Given the description of an element on the screen output the (x, y) to click on. 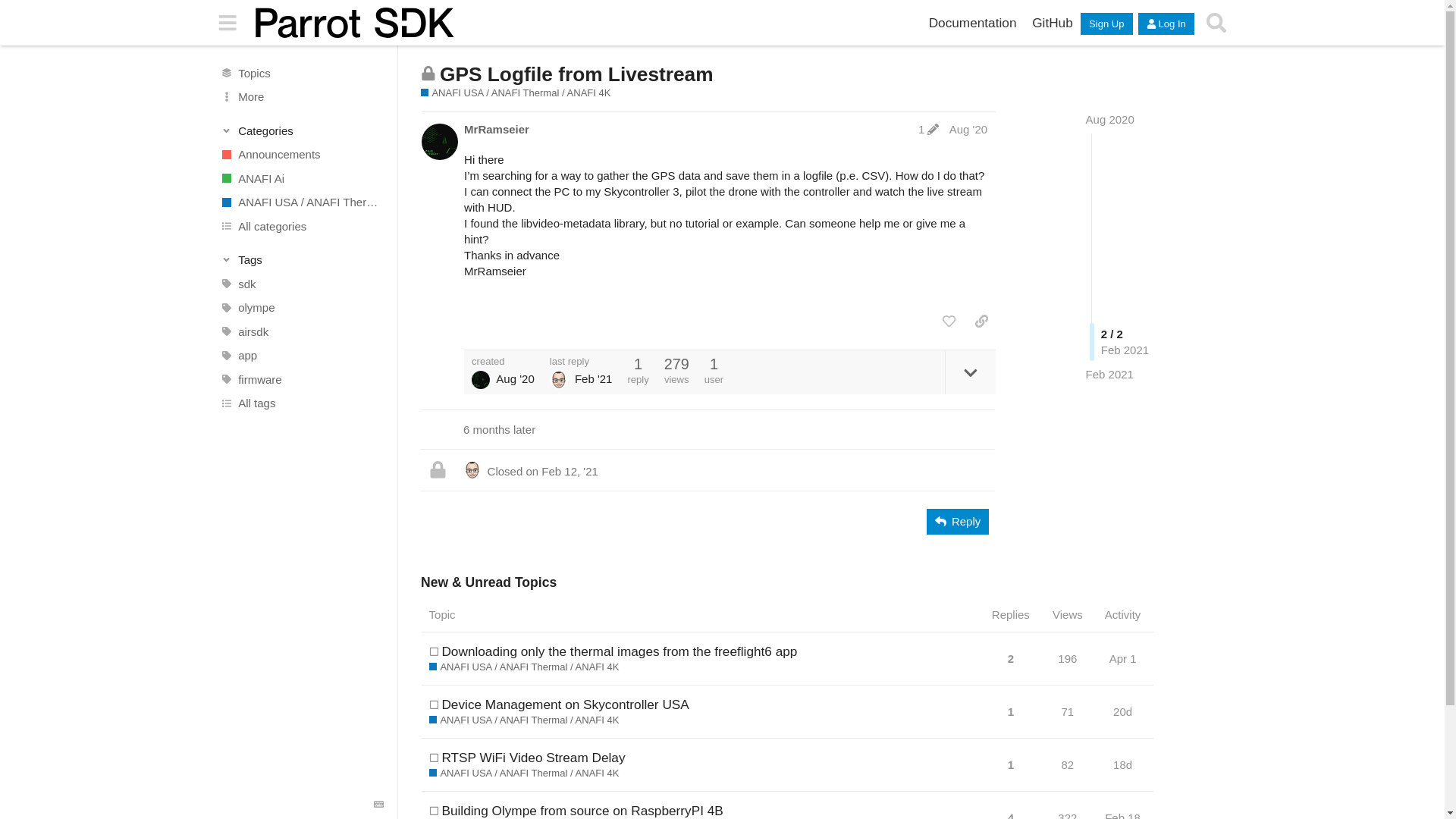
All topics (301, 72)
Aug 2020 (1110, 119)
app (301, 355)
All categories (301, 225)
Search (1215, 22)
Topics (301, 72)
Keyboard Shortcuts (378, 805)
Toggle section (301, 259)
Log In (1165, 24)
1 (928, 128)
MrRamseier (496, 129)
olympe (301, 307)
Tags (301, 259)
This topic is closed; it no longer accepts new replies (427, 73)
SDK Documentations (972, 22)
